Given the description of an element on the screen output the (x, y) to click on. 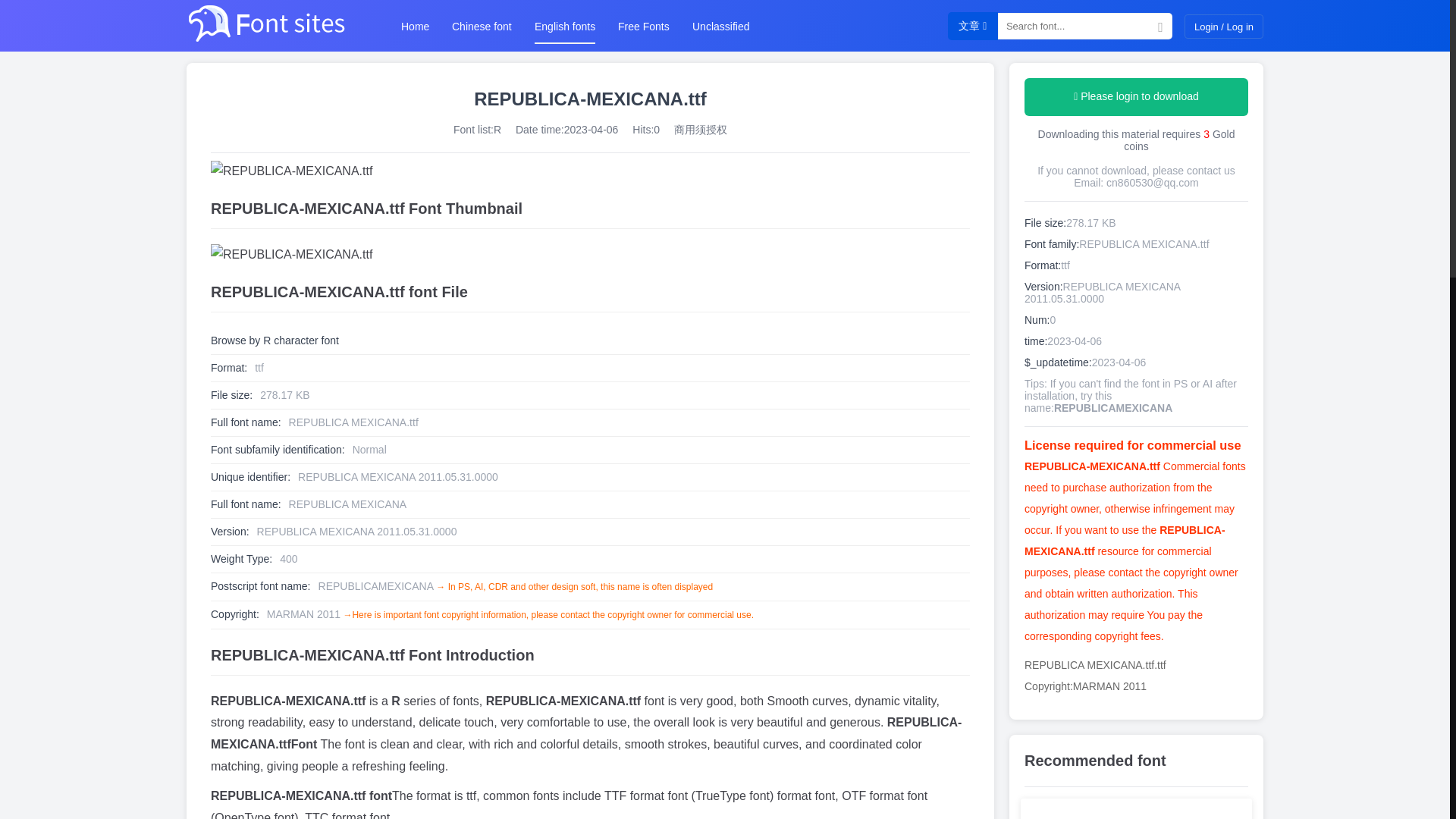
REPUBLICA-MEXICANA.ttf (590, 255)
REPUBLICA-MEXICANA.ttf (590, 171)
Chinese font (481, 26)
